Given the description of an element on the screen output the (x, y) to click on. 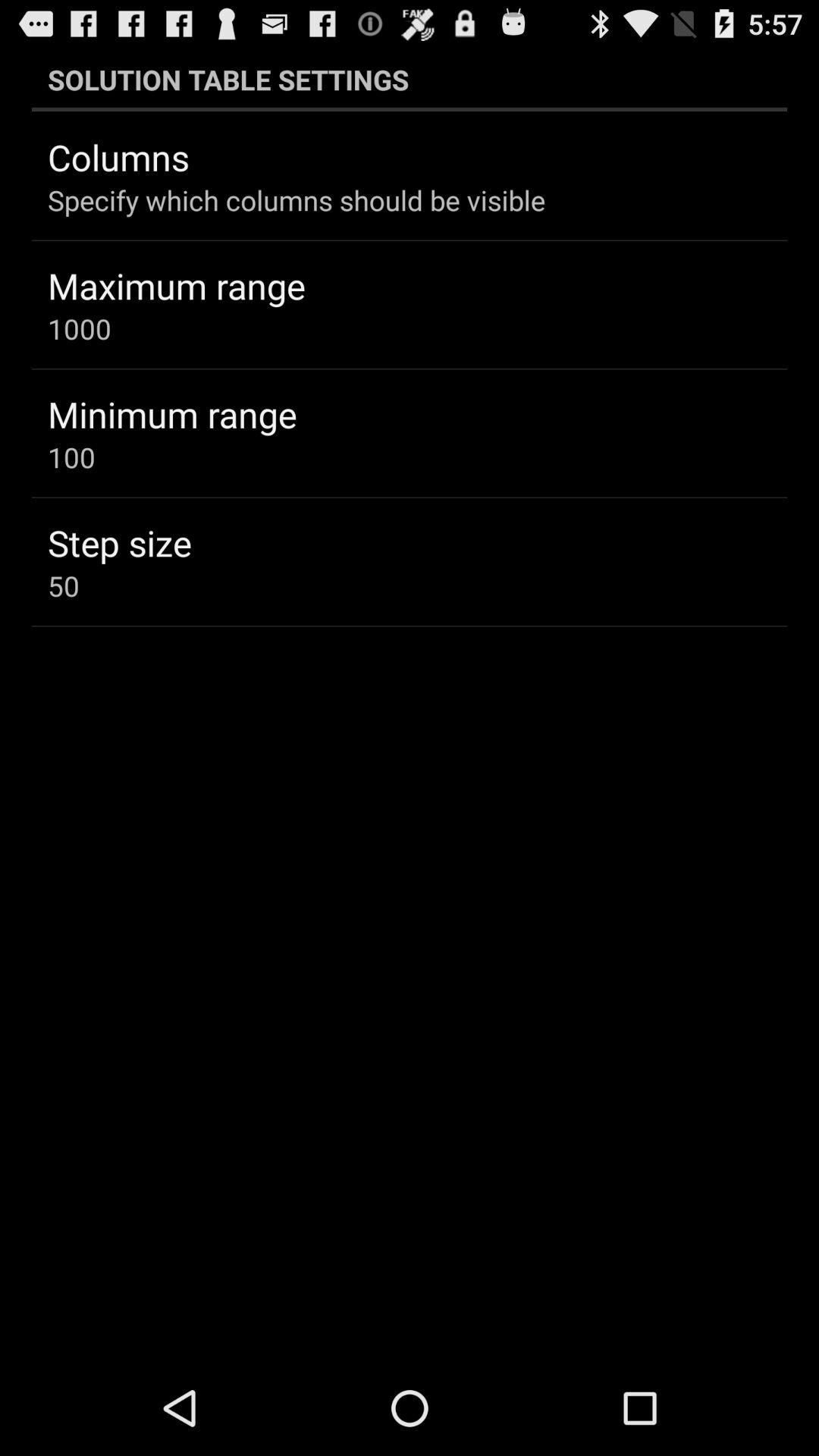
choose 1000 app (79, 328)
